Given the description of an element on the screen output the (x, y) to click on. 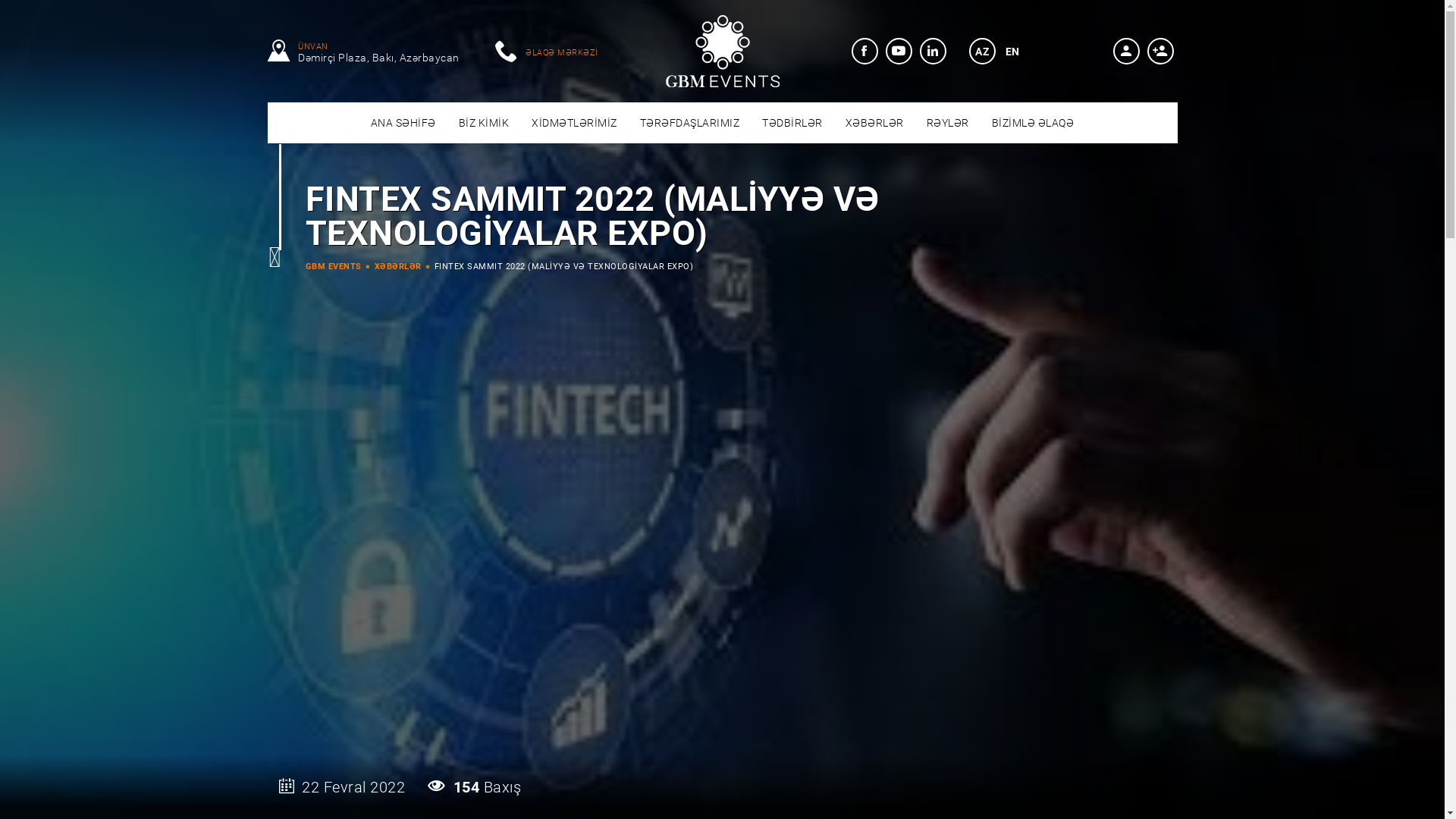
AZ Element type: text (982, 50)
BIZ KIMIK Element type: text (483, 123)
EN Element type: text (1012, 50)
LinkedIn Element type: hover (932, 50)
Youtube Element type: hover (898, 50)
Facebook Element type: hover (863, 50)
GBM EVENTS Element type: text (332, 266)
Daxil ol Element type: hover (1126, 50)
